Given the description of an element on the screen output the (x, y) to click on. 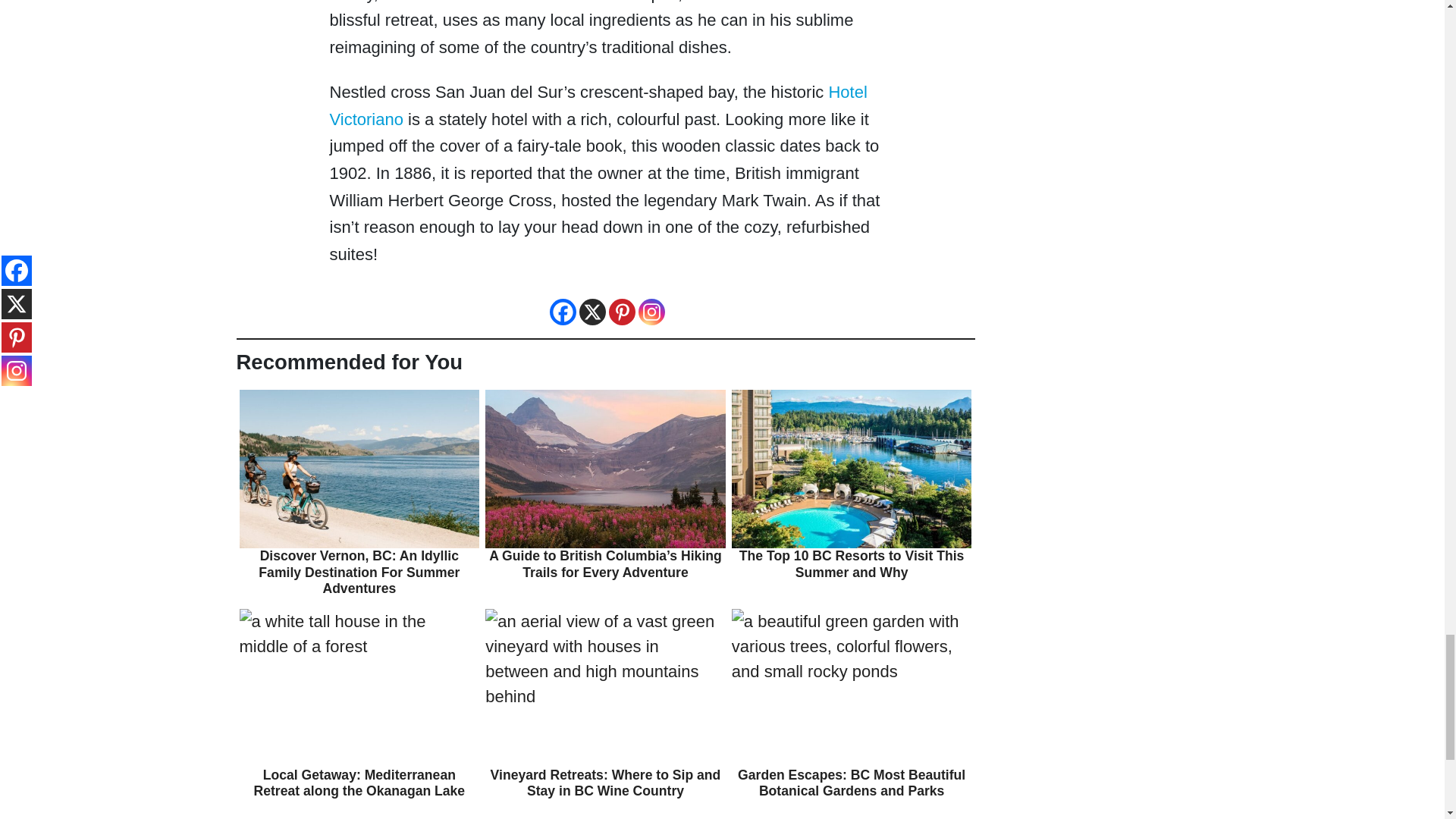
Facebook (561, 311)
Instagram (652, 311)
X (592, 311)
Pinterest (621, 311)
